Given the description of an element on the screen output the (x, y) to click on. 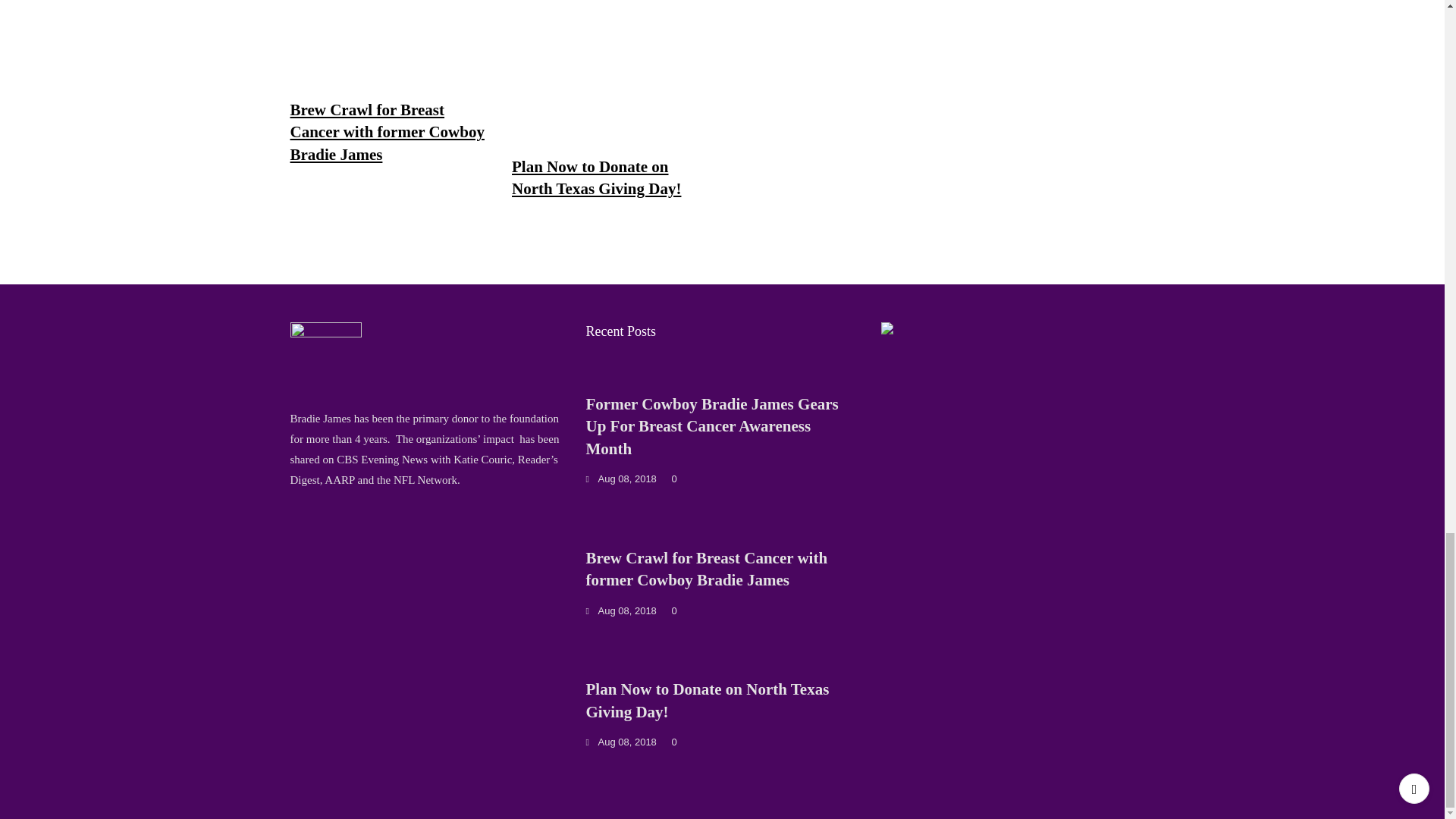
Aug 08, 2018 (620, 479)
Brew Crawl for Breast Cancer with former Cowboy Bradie James (706, 568)
Brew Crawl for Breast Cancer with former Cowboy Bradie James (386, 131)
Plan Now to Donate on North Texas Giving Day! (596, 178)
Aug 08, 2018 (620, 611)
